Given the description of an element on the screen output the (x, y) to click on. 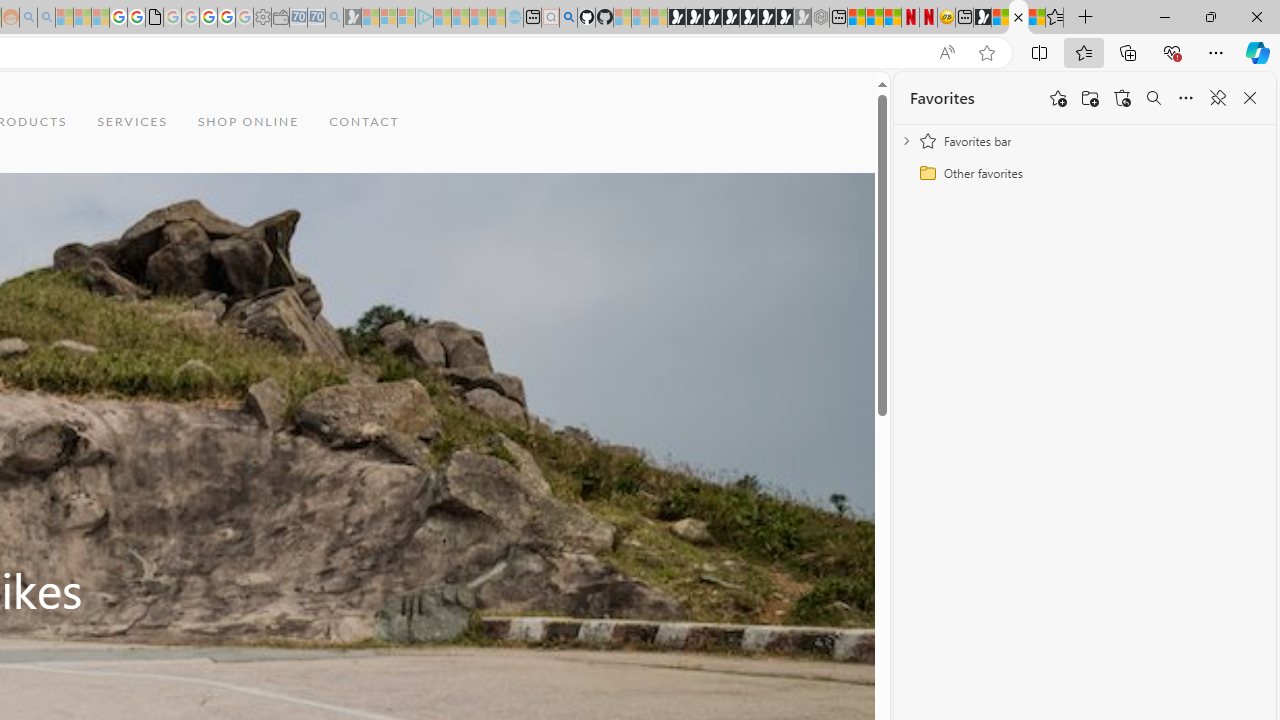
Settings - Sleeping (262, 17)
Utah sues federal government - Search - Sleeping (46, 17)
Microsoft Start - Sleeping (478, 17)
MSN (982, 17)
SERVICES (132, 122)
SERVICES (132, 122)
